Given the description of an element on the screen output the (x, y) to click on. 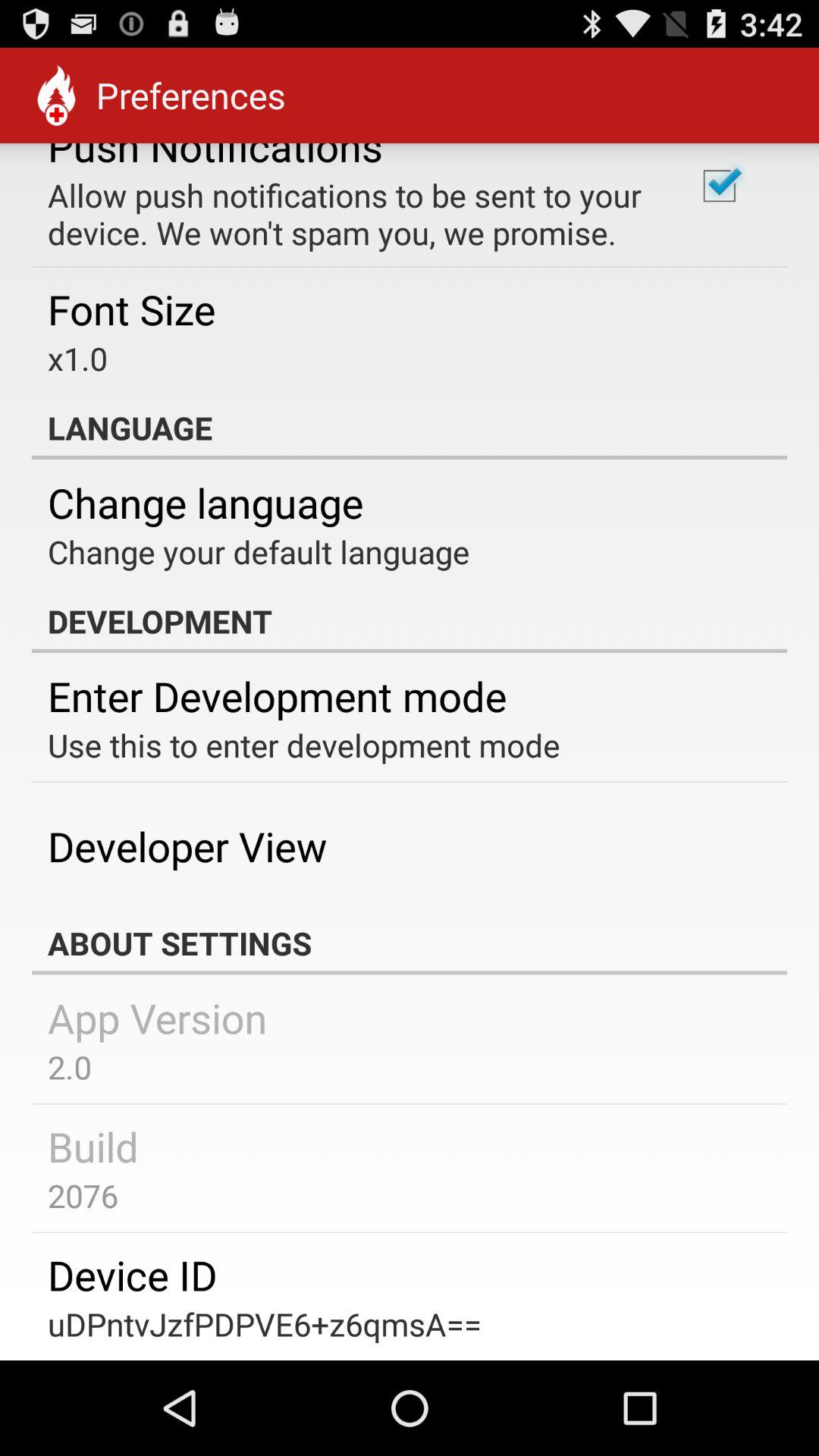
tap icon below device id (264, 1323)
